Given the description of an element on the screen output the (x, y) to click on. 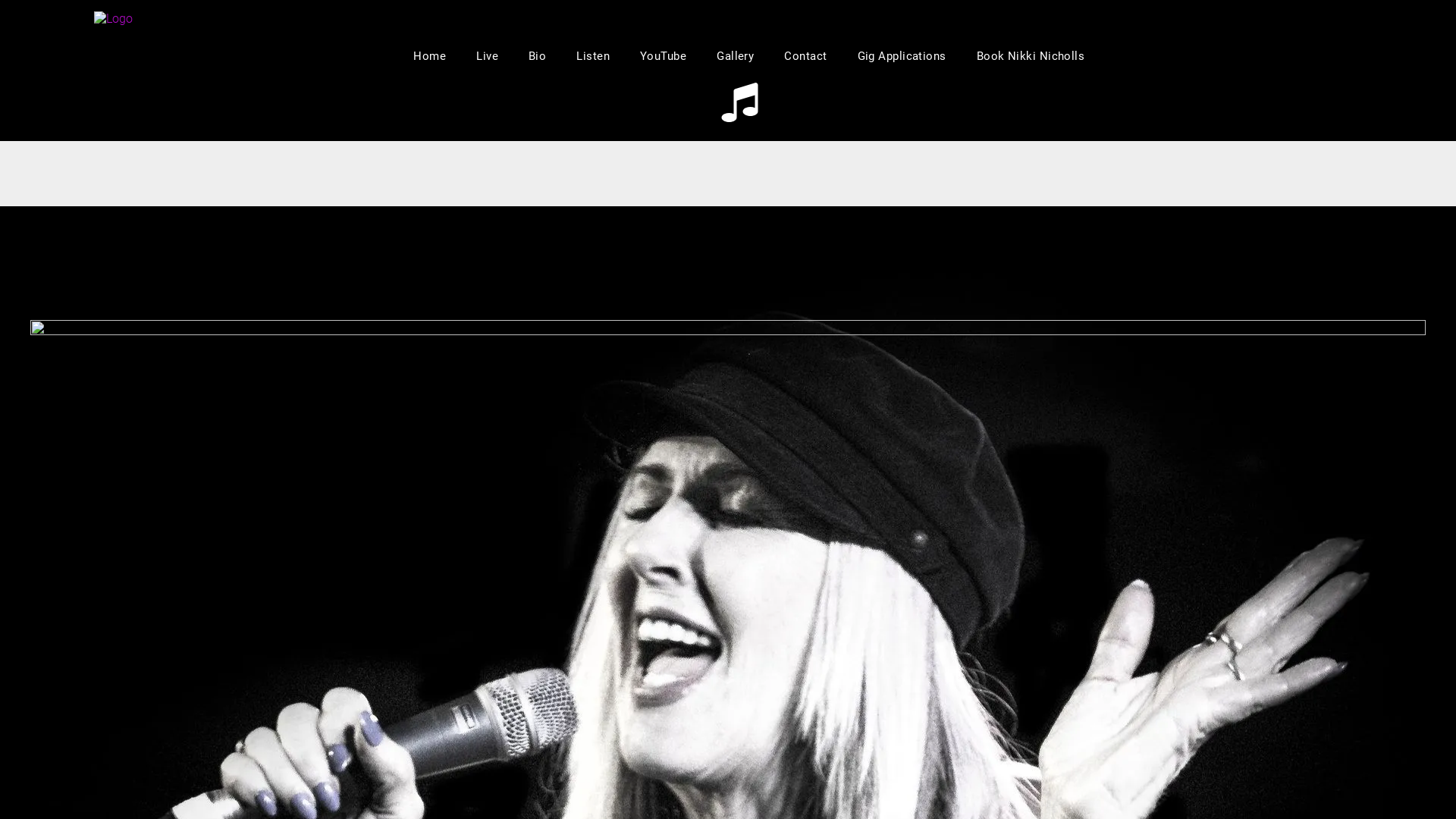
Gig Applications Element type: text (900, 55)
Book Nikki Nicholls Element type: text (1030, 55)
YouTube Element type: text (662, 55)
Gallery Element type: text (734, 55)
Home Element type: text (429, 55)
Live Element type: text (487, 55)
Contact Element type: text (804, 55)
Listen Element type: text (592, 55)
Bio Element type: text (537, 55)
